Given the description of an element on the screen output the (x, y) to click on. 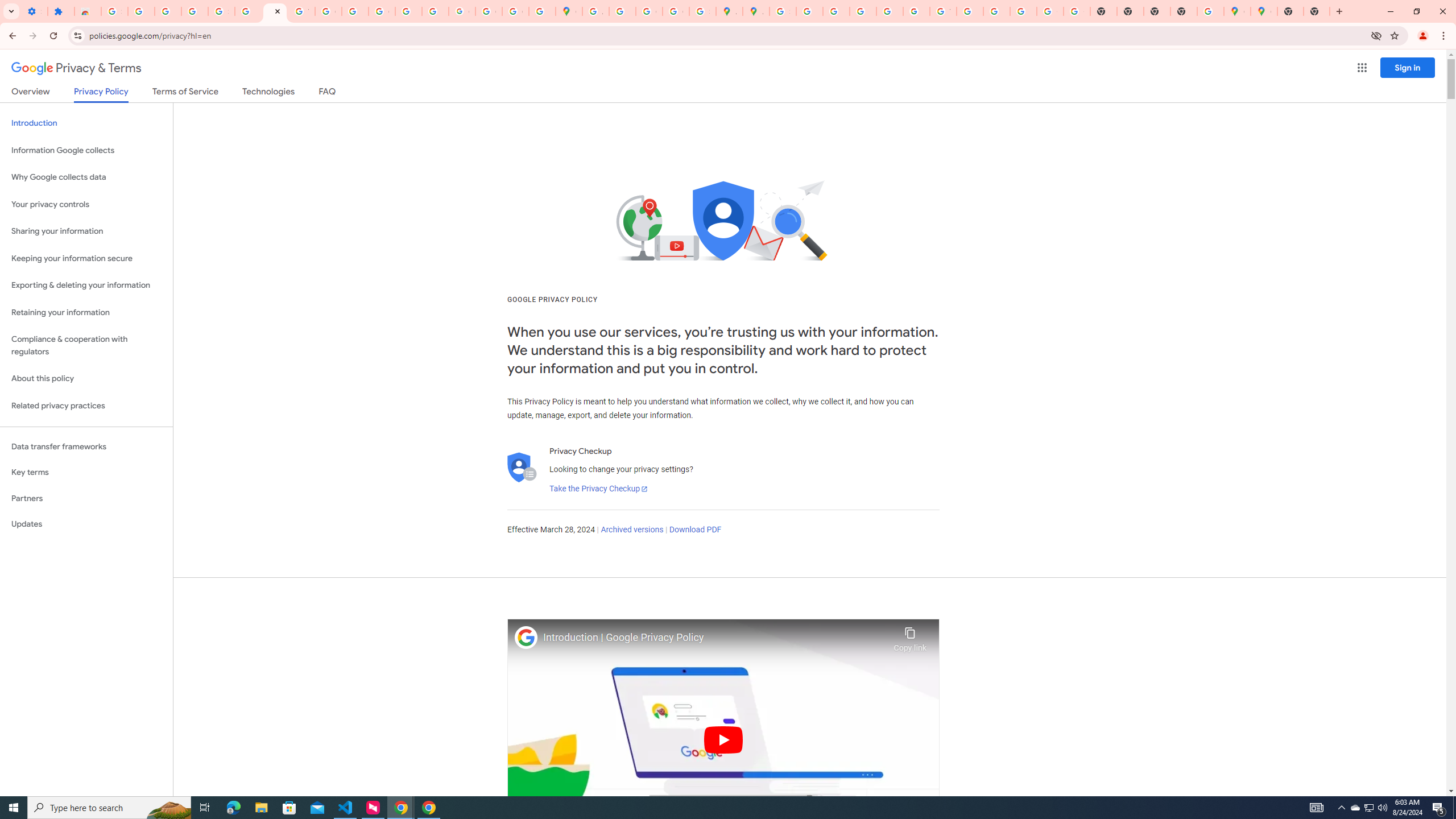
Retaining your information (86, 312)
YouTube (301, 11)
New Tab (1316, 11)
Google Maps (1236, 11)
Key terms (86, 472)
